Given the description of an element on the screen output the (x, y) to click on. 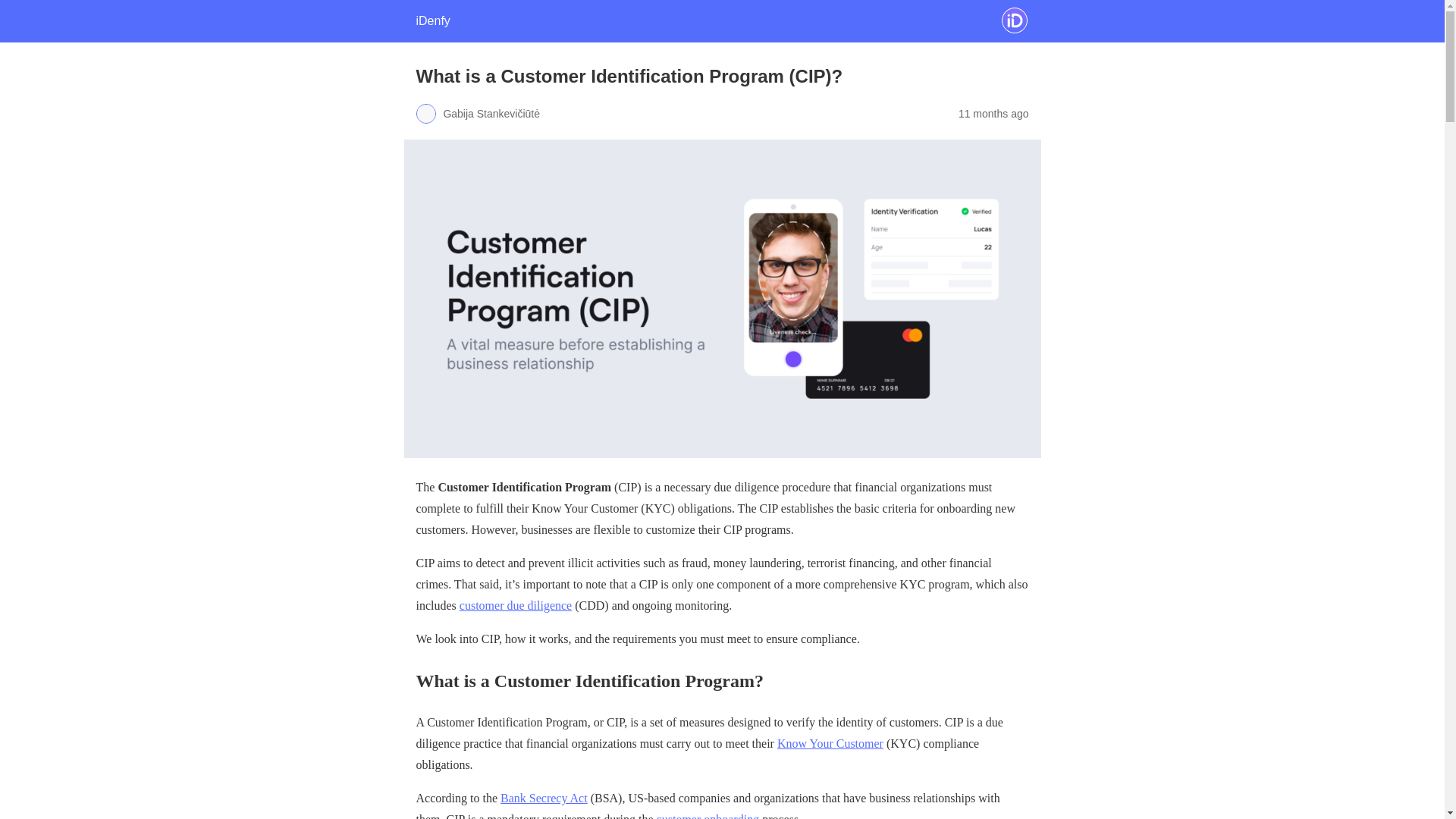
customer due diligence (516, 604)
iDenfy (431, 20)
customer onboarding (708, 816)
Bank Secrecy Act (544, 797)
Know Your Customer (830, 743)
